Given the description of an element on the screen output the (x, y) to click on. 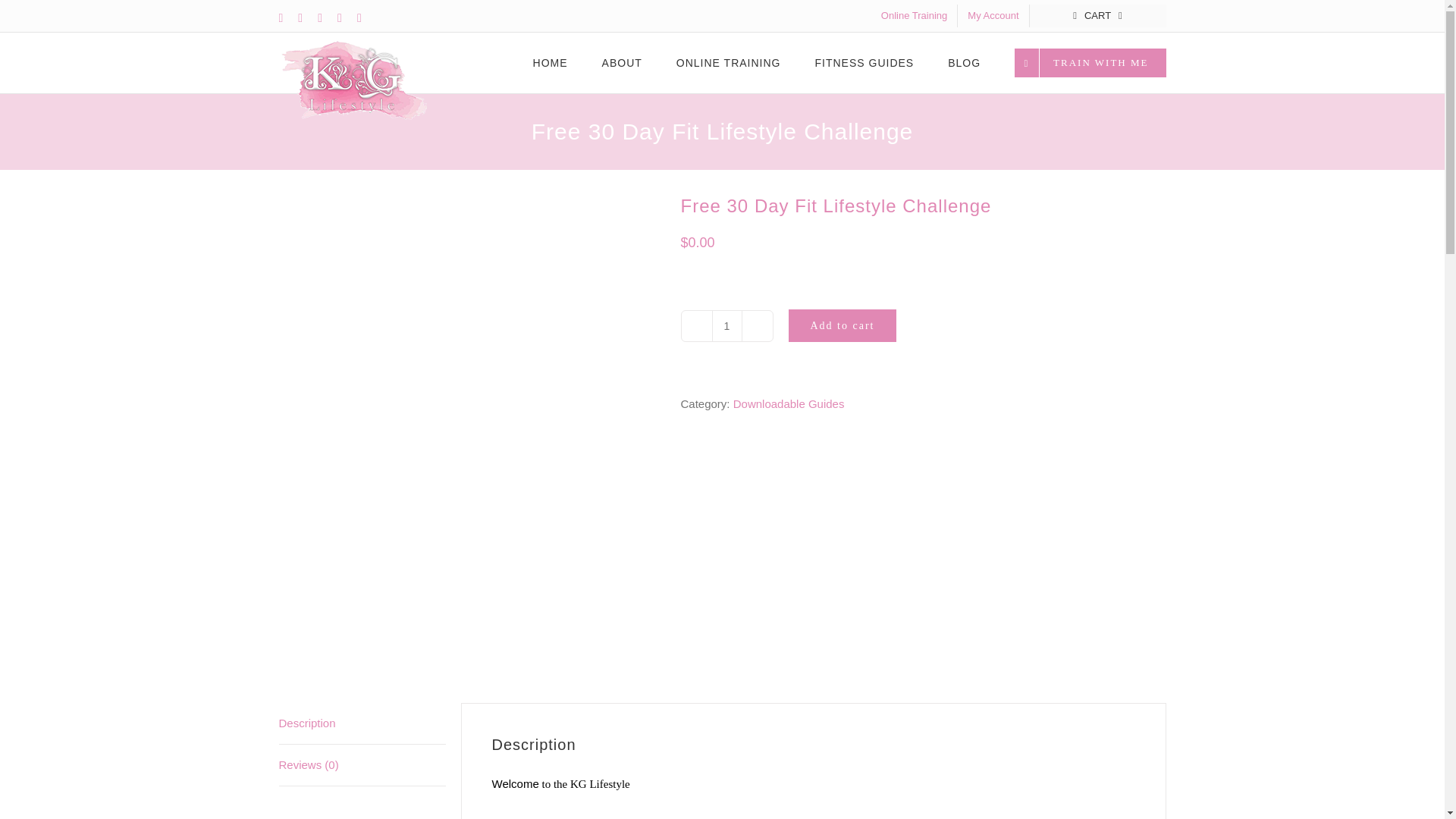
TRAIN WITH ME (1090, 62)
1 (726, 326)
CART (1097, 15)
ONLINE TRAINING (728, 62)
Qty (726, 326)
Downloadable Guides (788, 403)
Description (362, 723)
Add to cart (842, 325)
My Account (992, 15)
Online Training (913, 15)
